Given the description of an element on the screen output the (x, y) to click on. 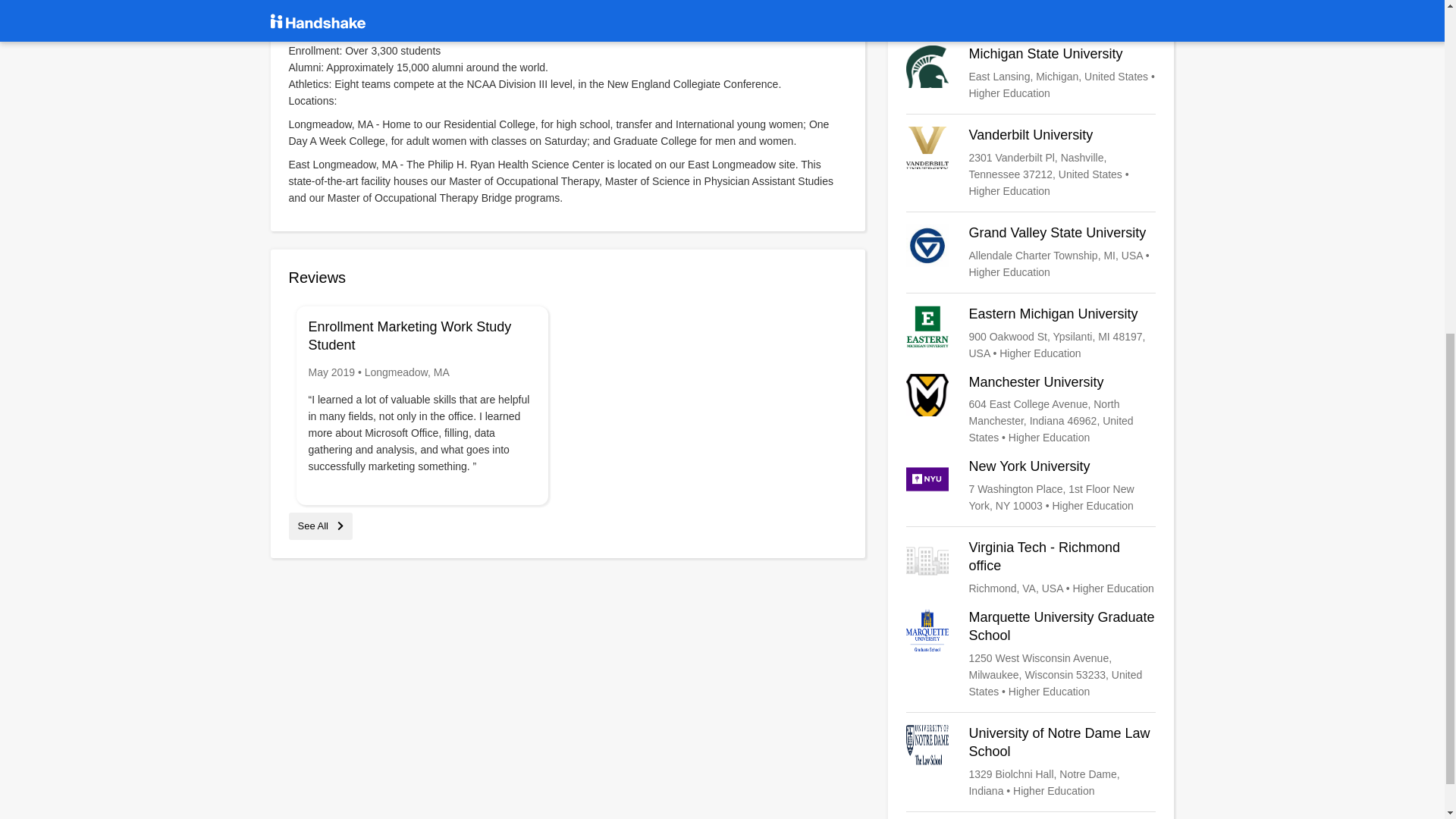
Manchester University (1030, 409)
Virginia Tech - Richmond office (1030, 567)
University of Notre Dame Law School (1030, 761)
Michigan State University (1030, 73)
Grand Valley State University (1030, 252)
University of Missouri (1030, 10)
Marquette University Graduate School (1030, 654)
Eastern Michigan University (1030, 333)
See All (320, 525)
New York University (1030, 485)
Vanderbilt University (1030, 162)
